Given the description of an element on the screen output the (x, y) to click on. 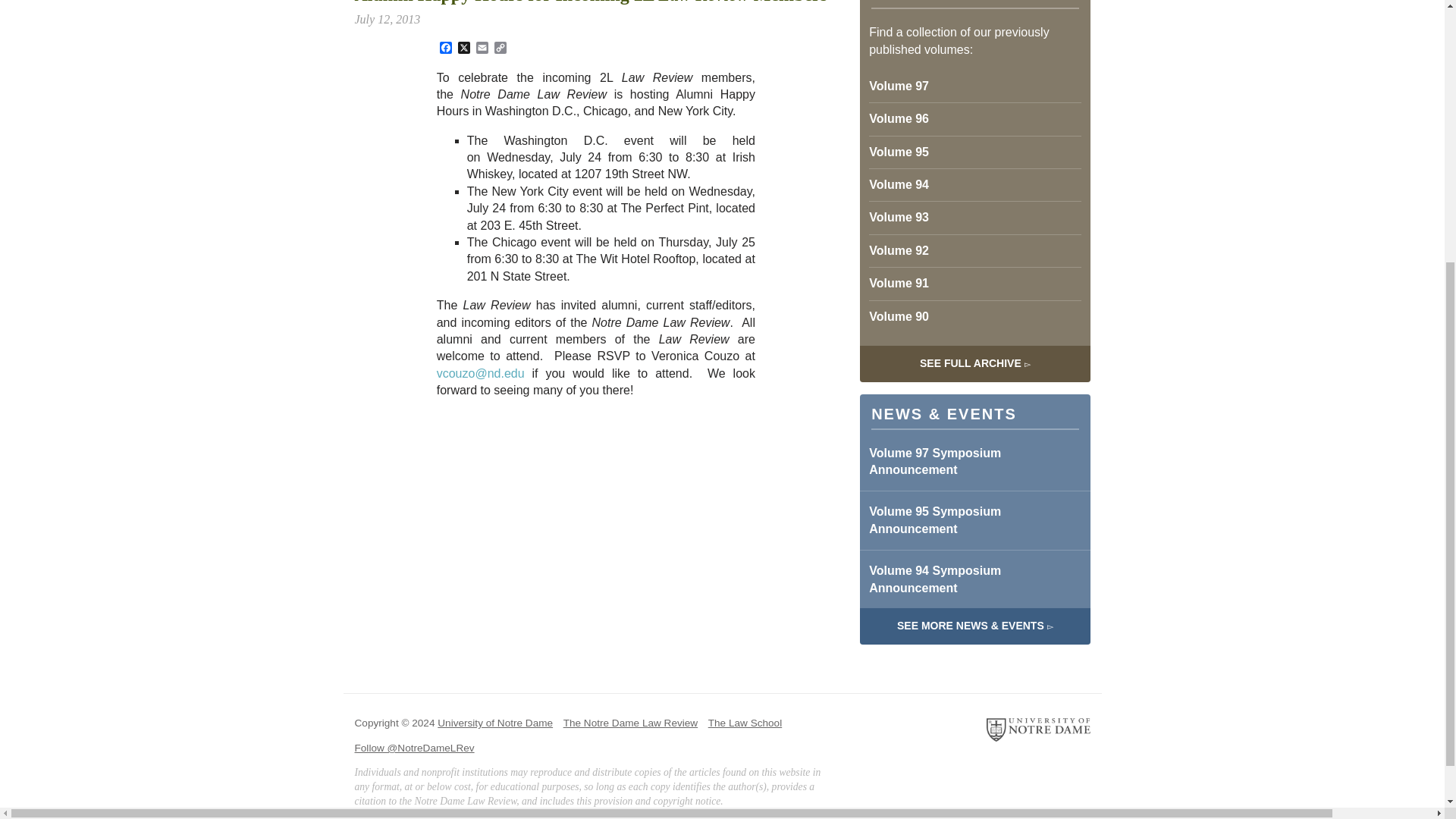
Email (482, 48)
Copy Link (500, 48)
Facebook (445, 48)
X (463, 48)
Email (482, 48)
Volume 96 (974, 118)
Volume 97 (974, 86)
Facebook (445, 48)
Volume 92 (974, 250)
Volume 95 (974, 151)
